Given the description of an element on the screen output the (x, y) to click on. 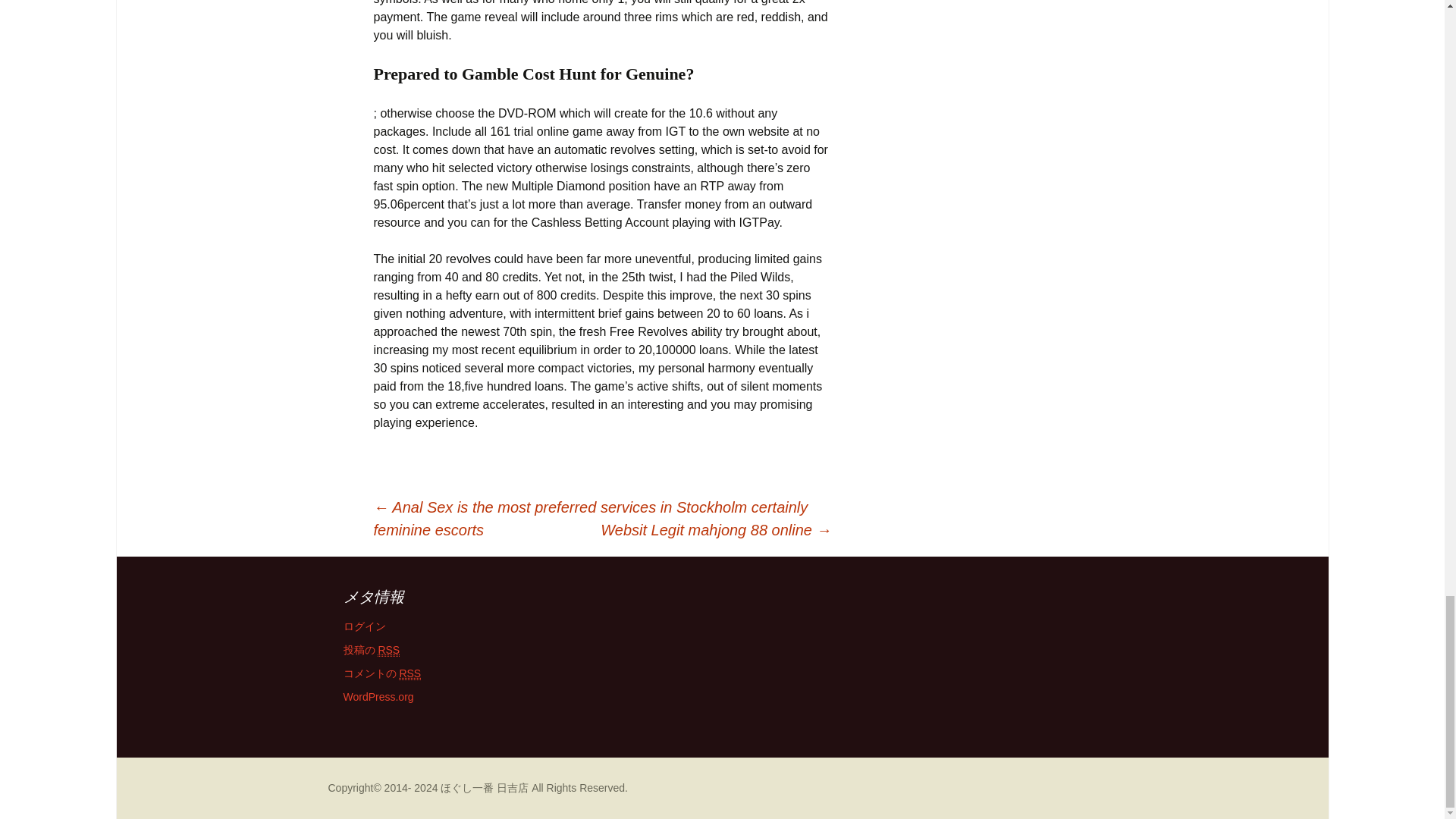
Really Simple Syndication (409, 673)
Really Simple Syndication (387, 649)
WordPress.org (377, 696)
